Given the description of an element on the screen output the (x, y) to click on. 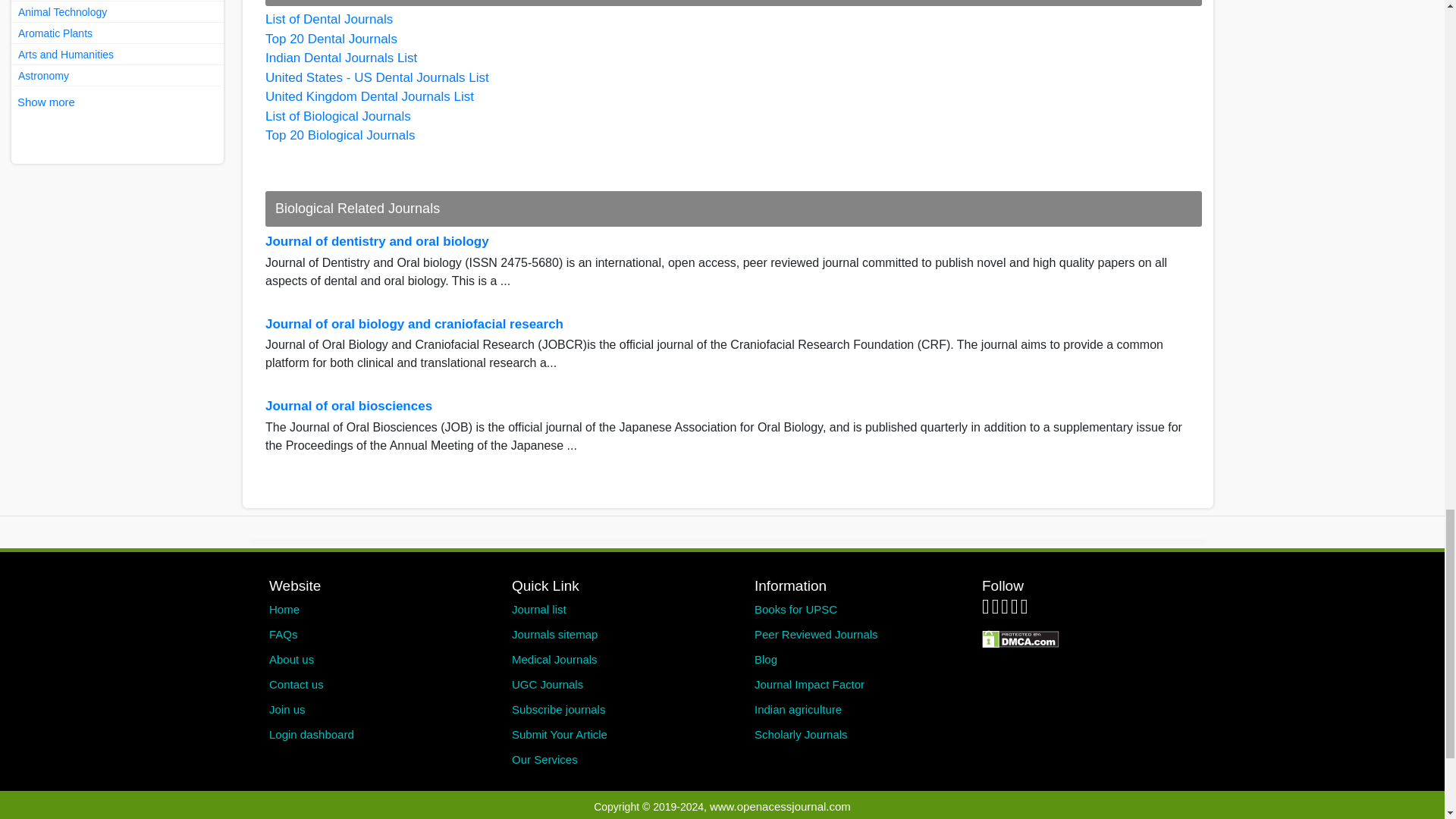
DMCA.com Protection Status (1020, 637)
